Given the description of an element on the screen output the (x, y) to click on. 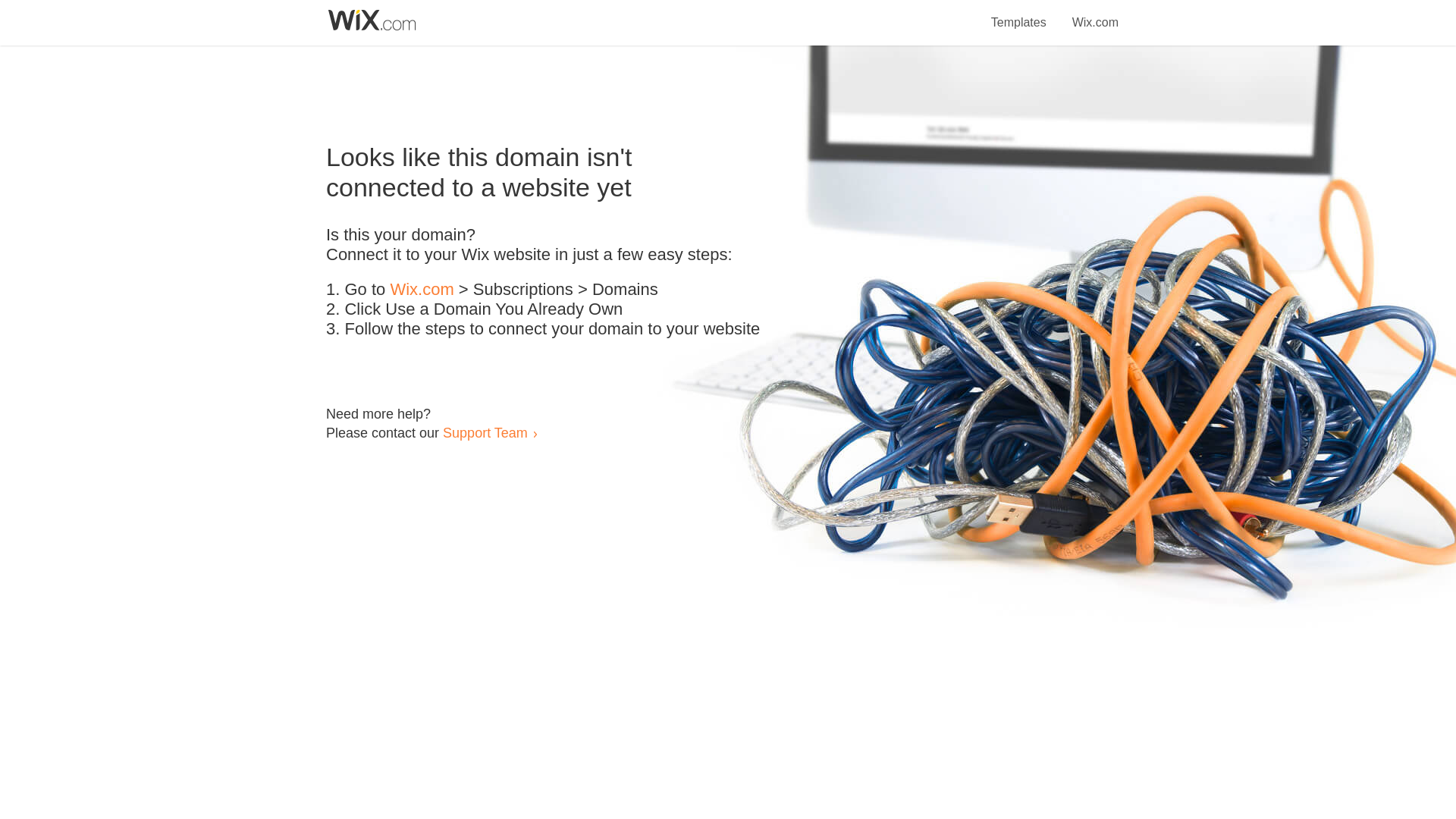
Wix.com (1095, 14)
Support Team (484, 432)
Templates (1018, 14)
Wix.com (421, 289)
